Given the description of an element on the screen output the (x, y) to click on. 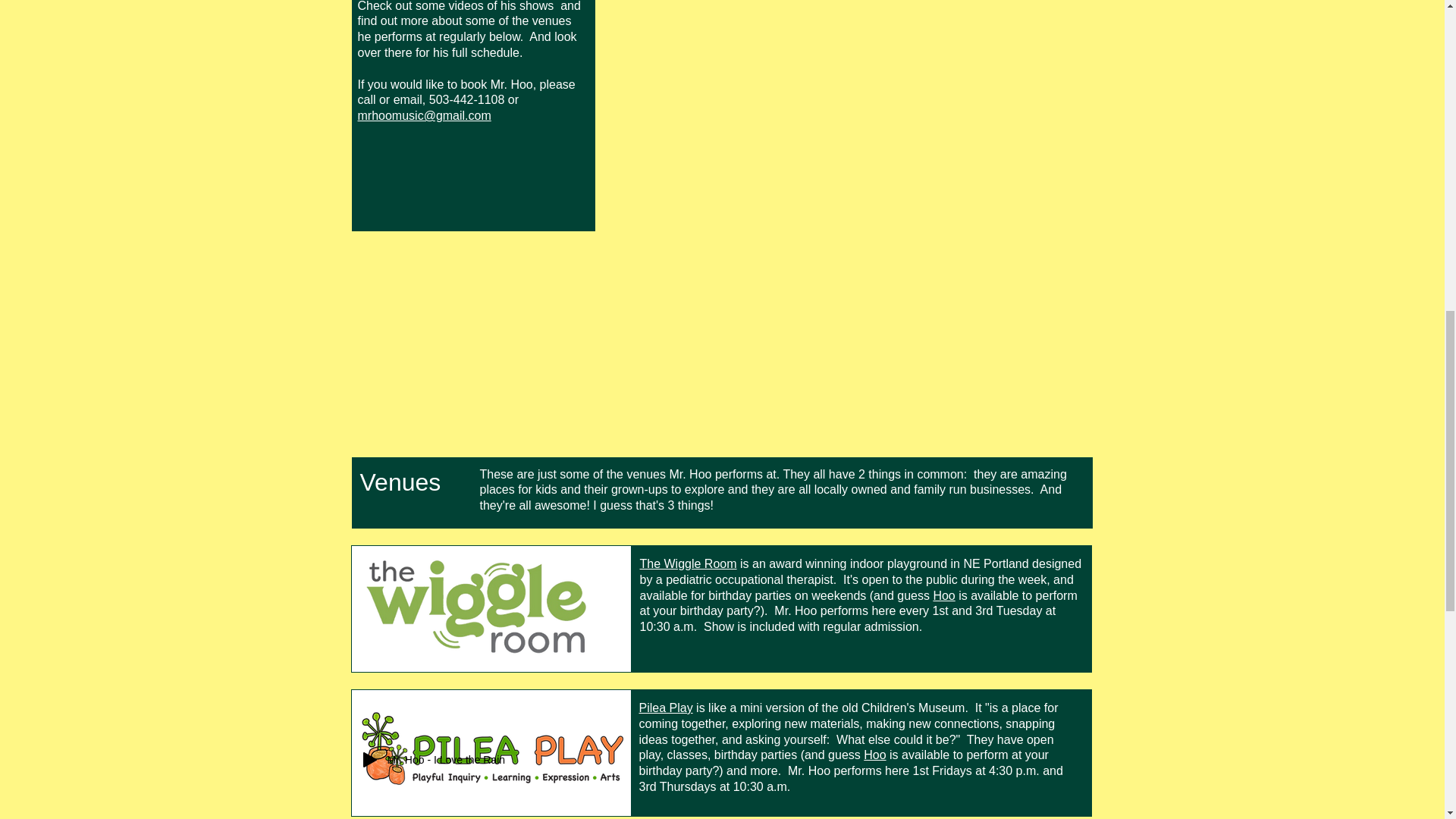
Pilea Play (666, 707)
Hoo (944, 594)
The Wiggle Room (688, 563)
Hoo (874, 754)
